Given the description of an element on the screen output the (x, y) to click on. 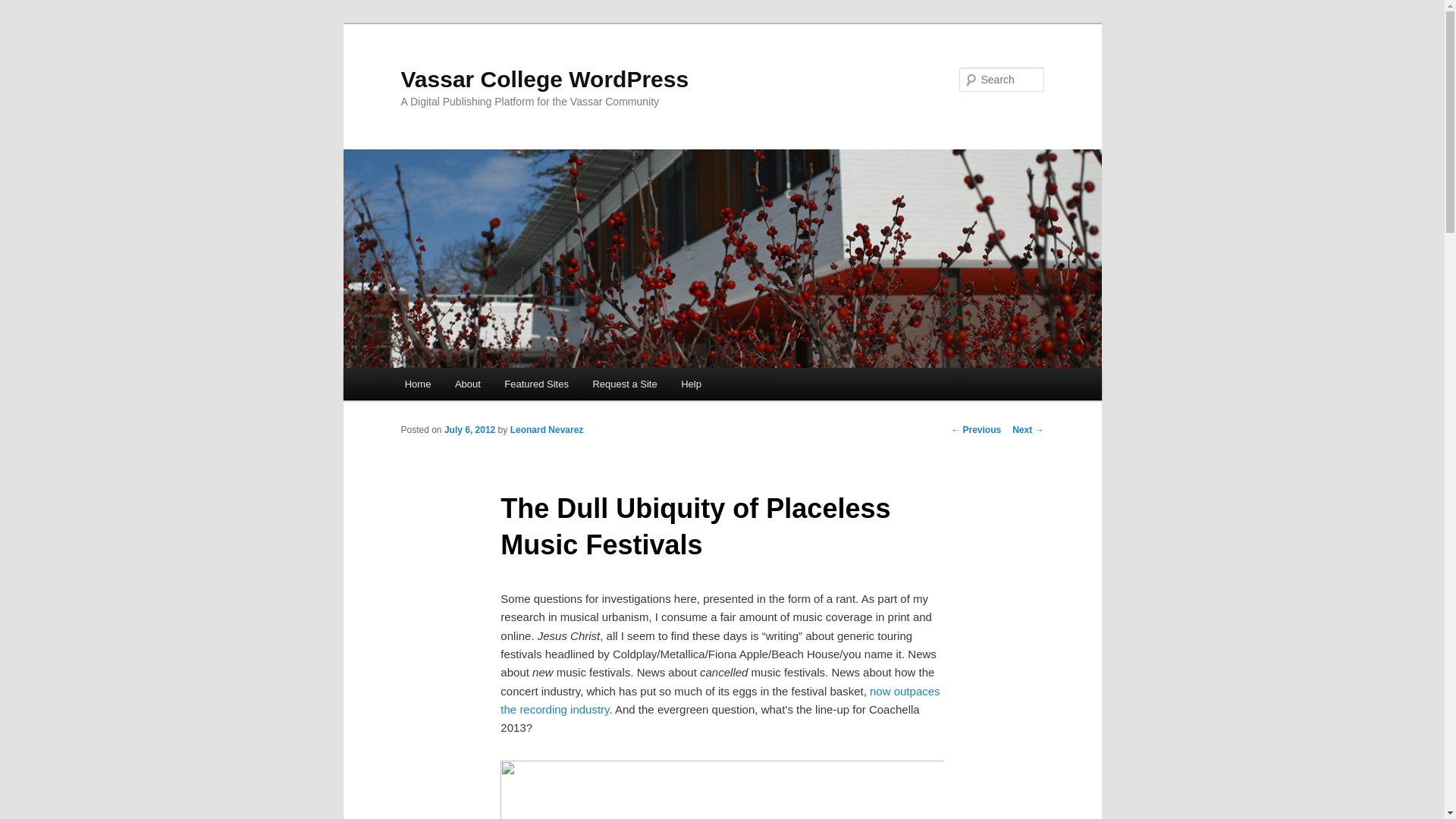
2:13 pm (469, 429)
now outpaces the recording industry (719, 699)
Search (24, 8)
Request a Site (624, 383)
Featured Sites (536, 383)
Vassar College WordPress (544, 78)
View all posts by Leonard Nevarez (547, 429)
July 6, 2012 (469, 429)
About (467, 383)
Help (690, 383)
Home (417, 383)
Leonard Nevarez (547, 429)
